Given the description of an element on the screen output the (x, y) to click on. 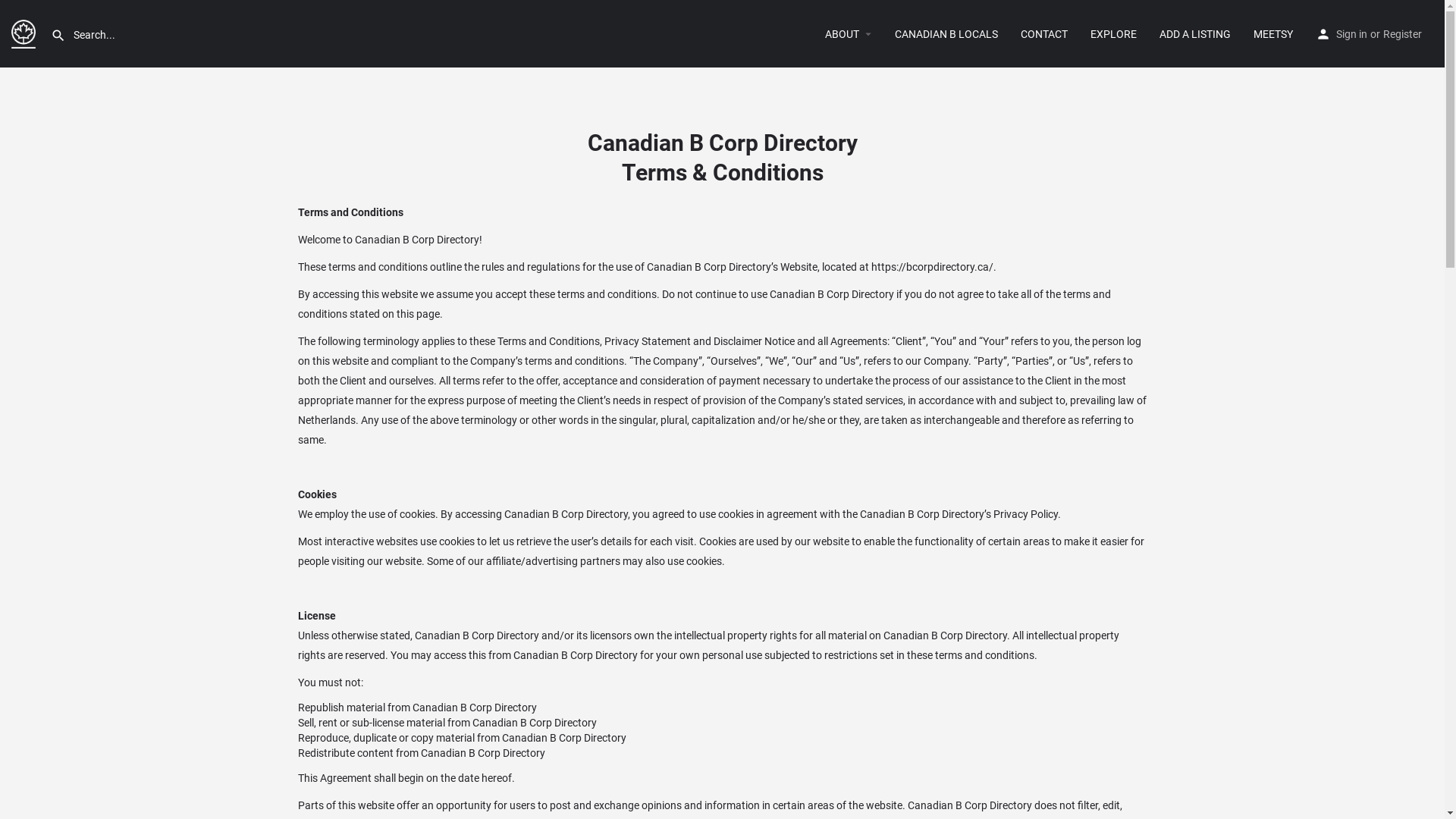
Register Element type: text (1402, 33)
CANADIAN B LOCALS Element type: text (945, 32)
CONTACT Element type: text (1043, 32)
EXPLORE Element type: text (1113, 32)
MEETSY Element type: text (1272, 32)
ABOUT Element type: text (842, 32)
Sign in Element type: text (1351, 33)
ADD A LISTING Element type: text (1194, 32)
